Given the description of an element on the screen output the (x, y) to click on. 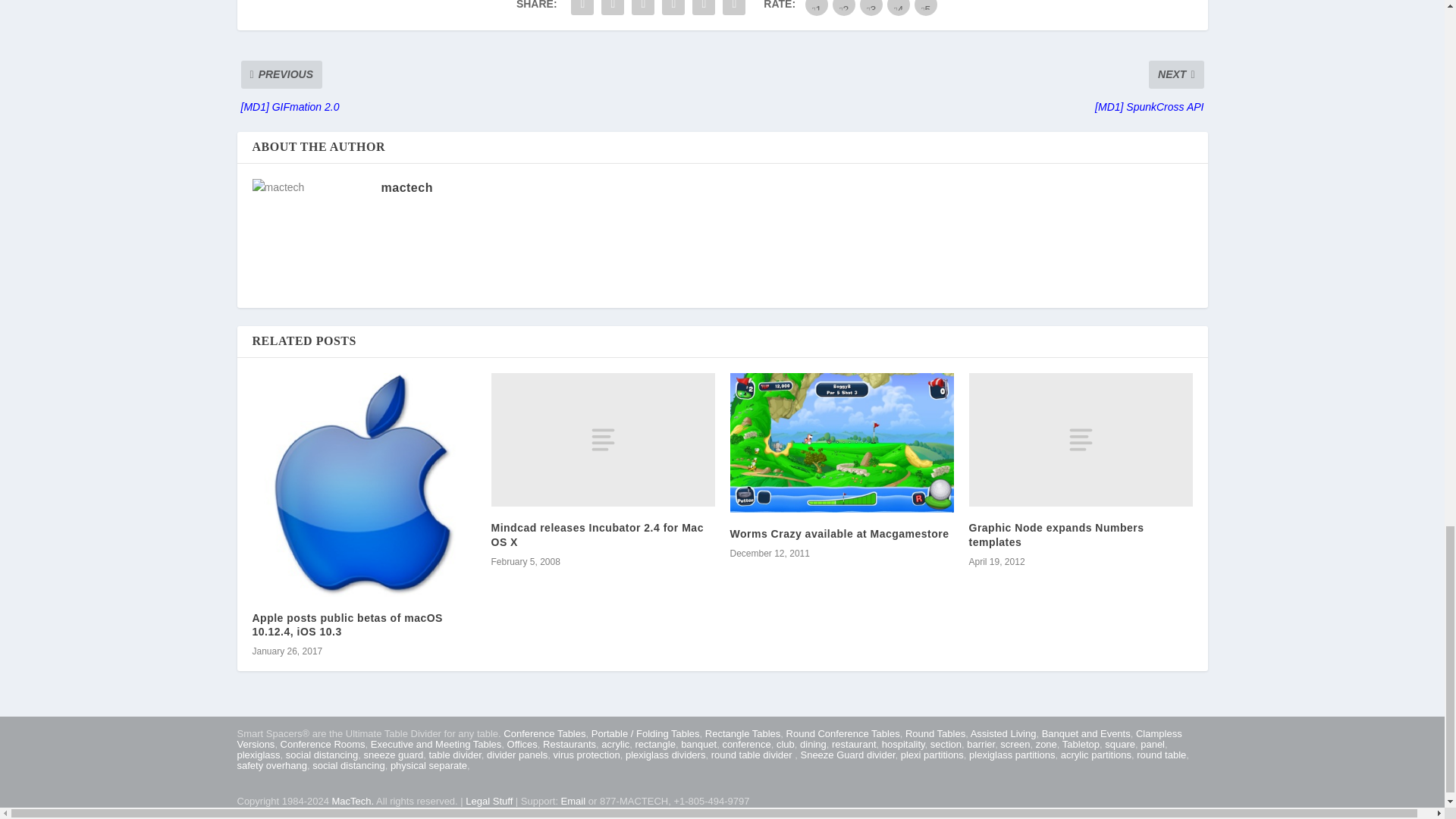
bad (816, 7)
poor (844, 7)
regular (871, 7)
